Given the description of an element on the screen output the (x, y) to click on. 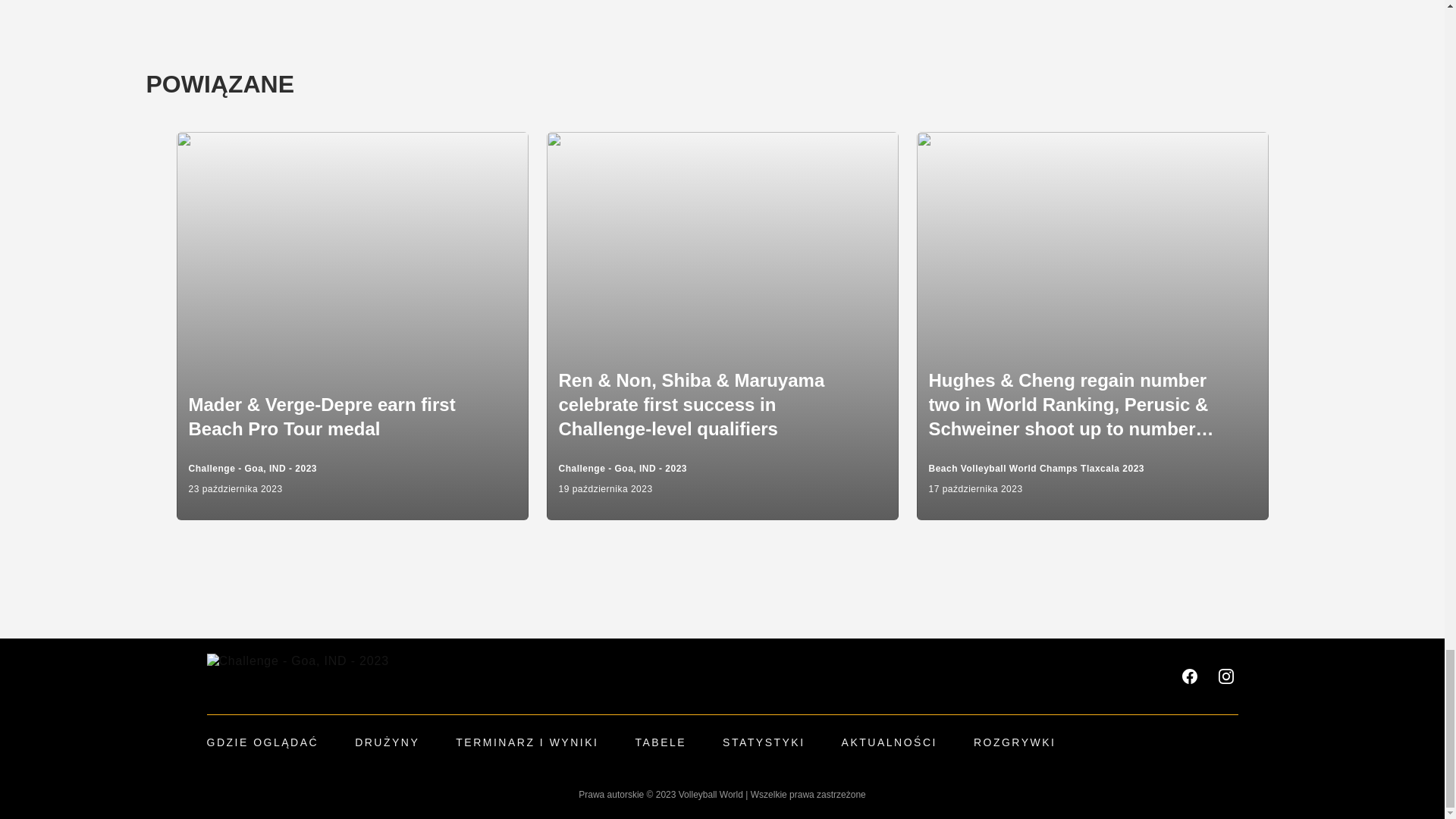
Challenge - Goa, IND - 2023 (297, 676)
facebook (1188, 676)
instagram (1224, 676)
